Given the description of an element on the screen output the (x, y) to click on. 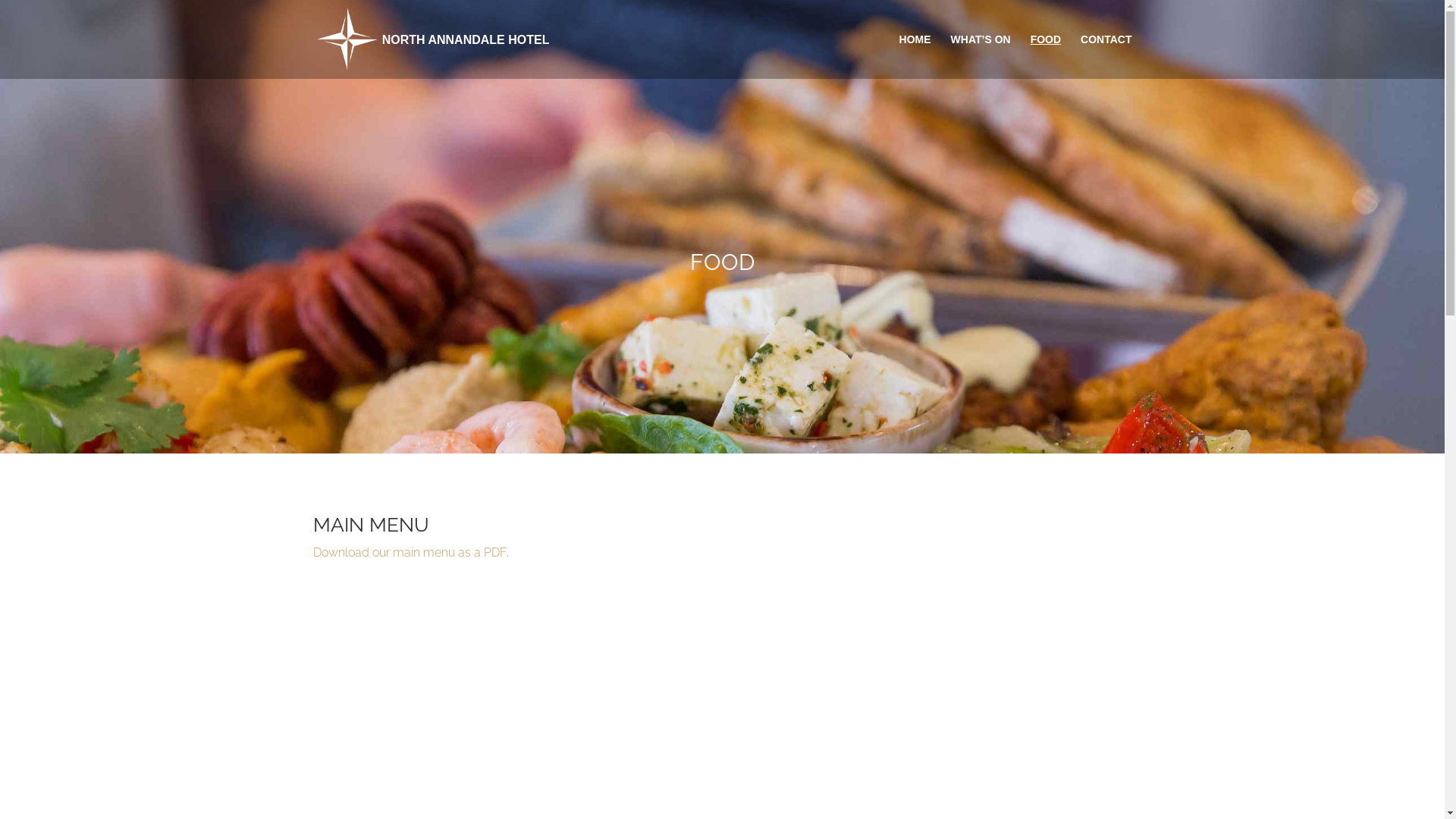
FOOD Element type: text (1045, 56)
Download our main menu as a PDF Element type: text (408, 552)
CONTACT Element type: text (1105, 56)
HOME Element type: text (915, 56)
